Given the description of an element on the screen output the (x, y) to click on. 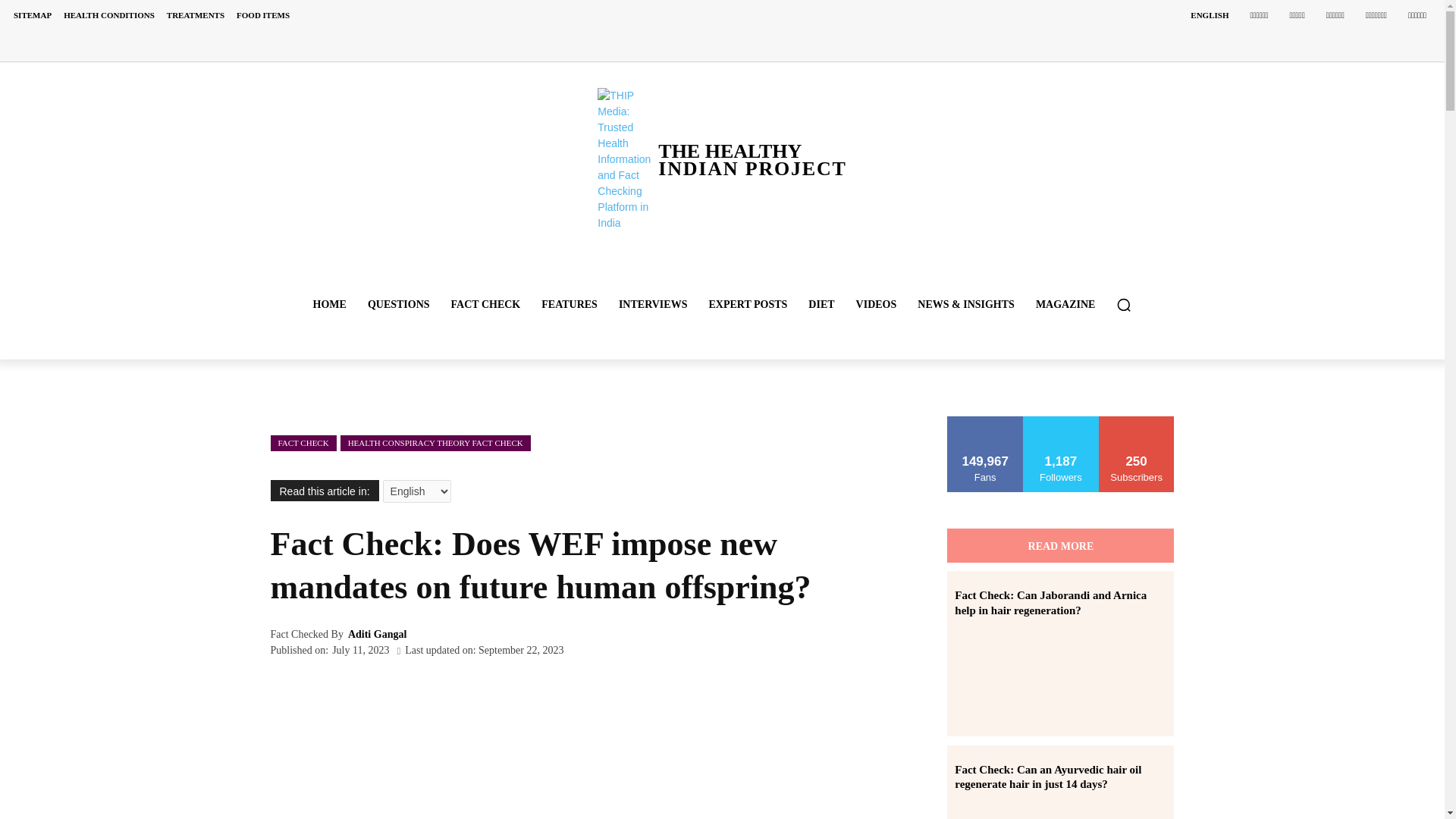
FEATURES (747, 304)
INTERVIEWS (569, 304)
FACT CHECK (653, 304)
QUESTIONS (486, 304)
FOOD ITEMS (398, 304)
TREATMENTS (262, 15)
DIET (195, 15)
HEALTH CONDITIONS (820, 304)
HOME (109, 15)
VIDEOS (329, 304)
ENGLISH (876, 304)
SITEMAP (1209, 14)
